Given the description of an element on the screen output the (x, y) to click on. 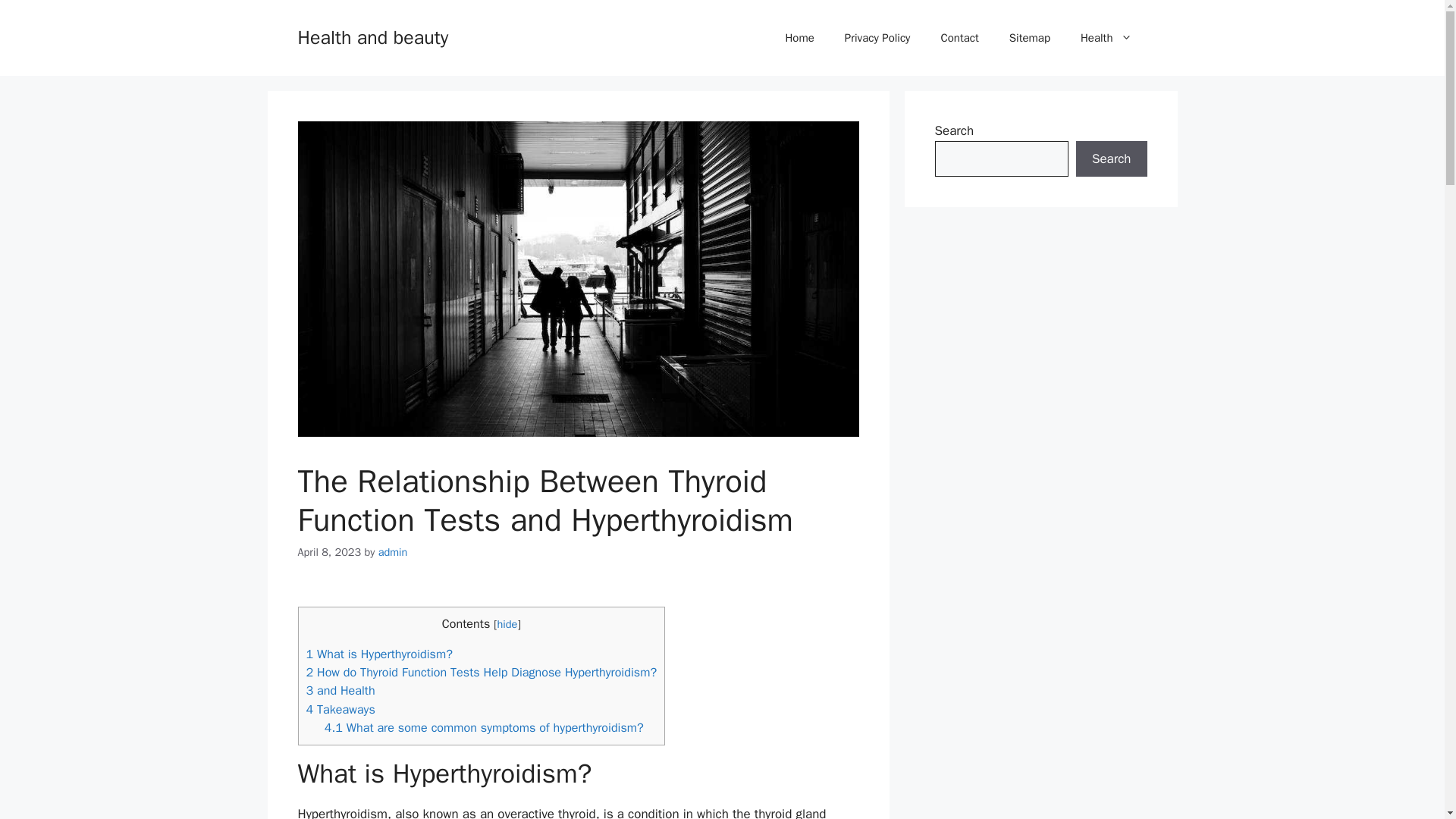
3 and Health (340, 690)
4.1 What are some common symptoms of hyperthyroidism? (483, 727)
Privacy Policy (877, 37)
Contact (958, 37)
Health (1106, 37)
hide (507, 623)
admin (392, 551)
Sitemap (1029, 37)
Home (799, 37)
